Given the description of an element on the screen output the (x, y) to click on. 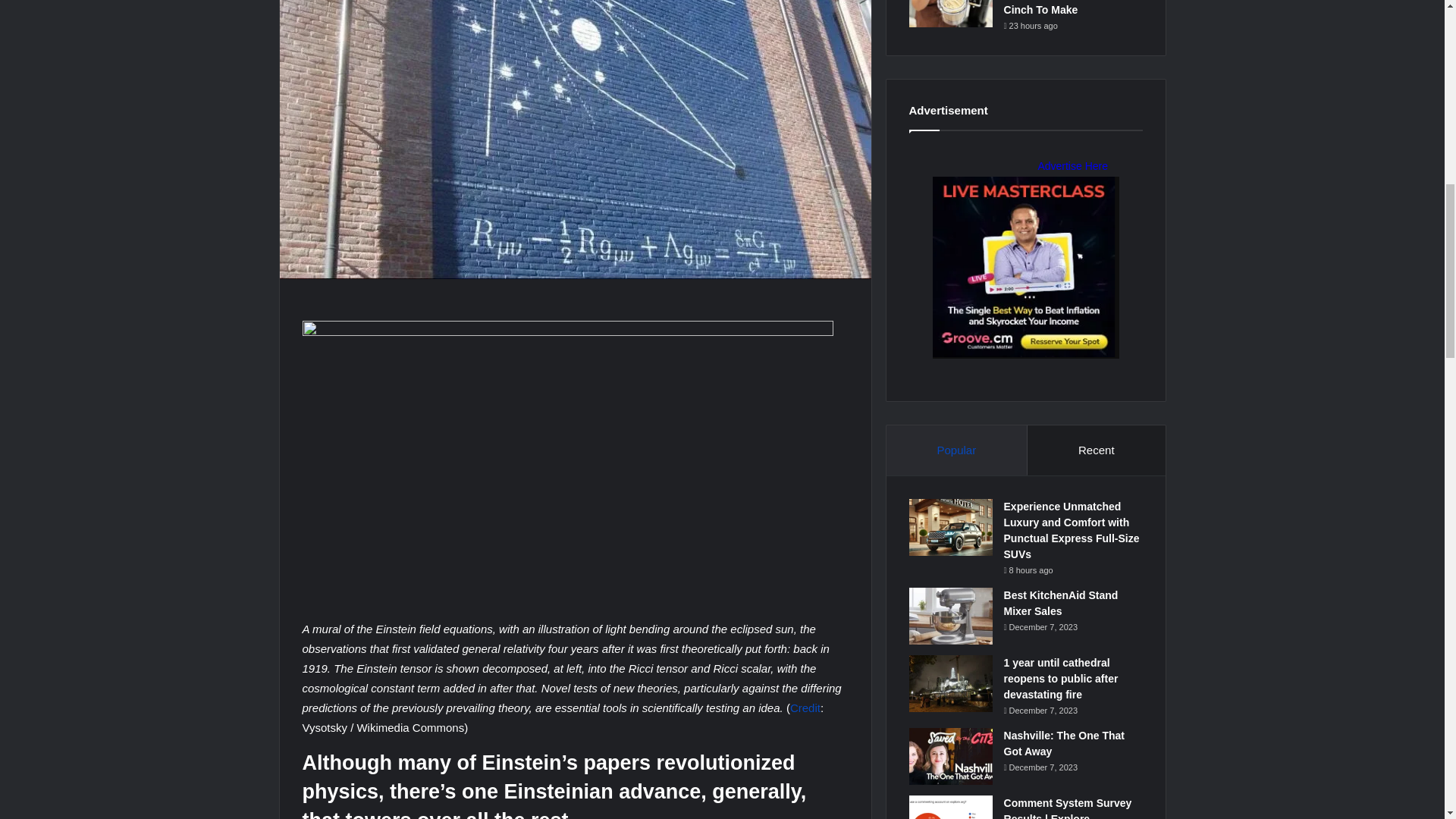
Credit (805, 707)
